Given the description of an element on the screen output the (x, y) to click on. 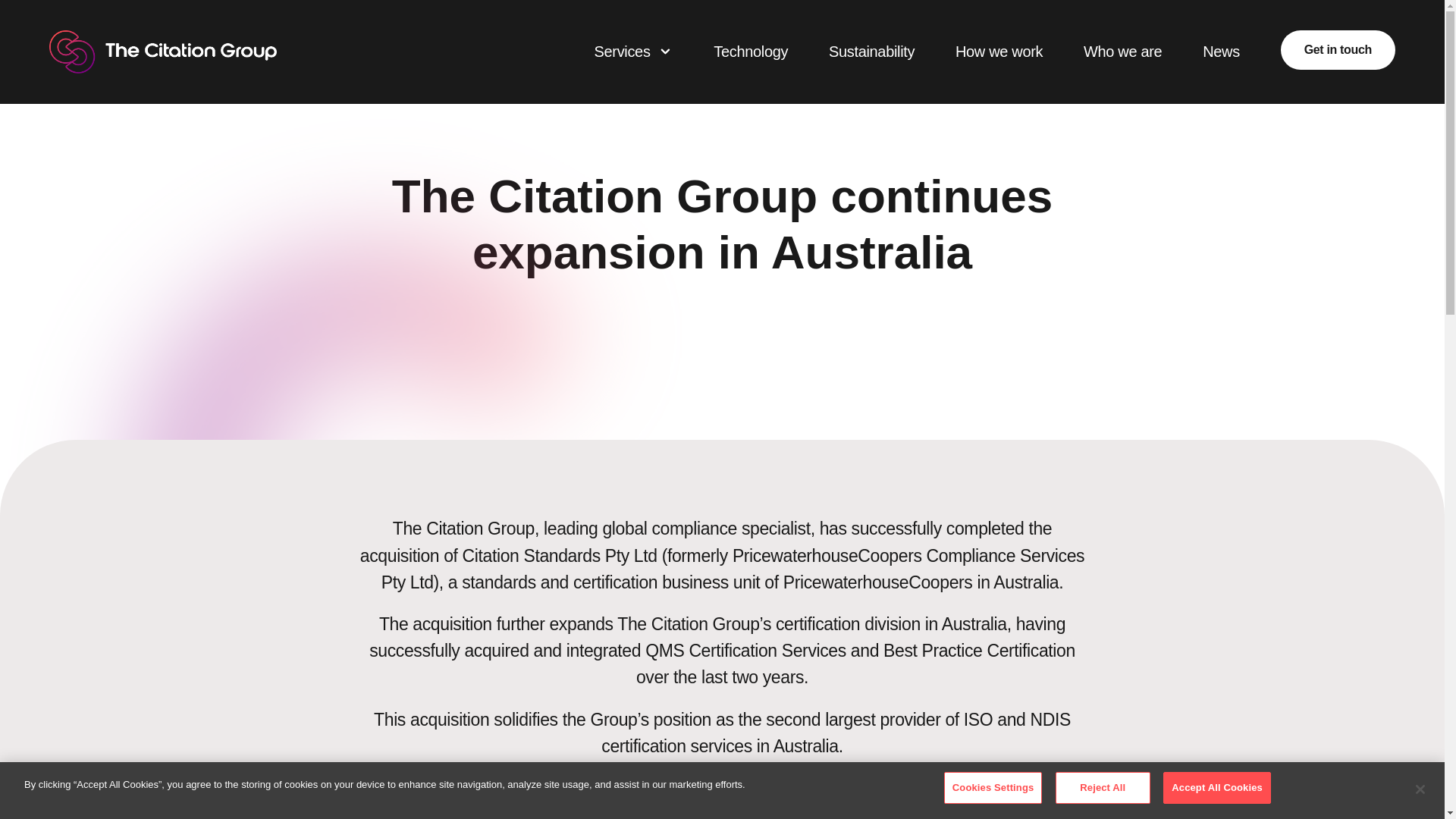
Technology (750, 51)
How we work (998, 51)
Who we are (1122, 51)
Get in touch (1337, 49)
Services (622, 51)
News (1221, 51)
Sustainability (871, 51)
